Given the description of an element on the screen output the (x, y) to click on. 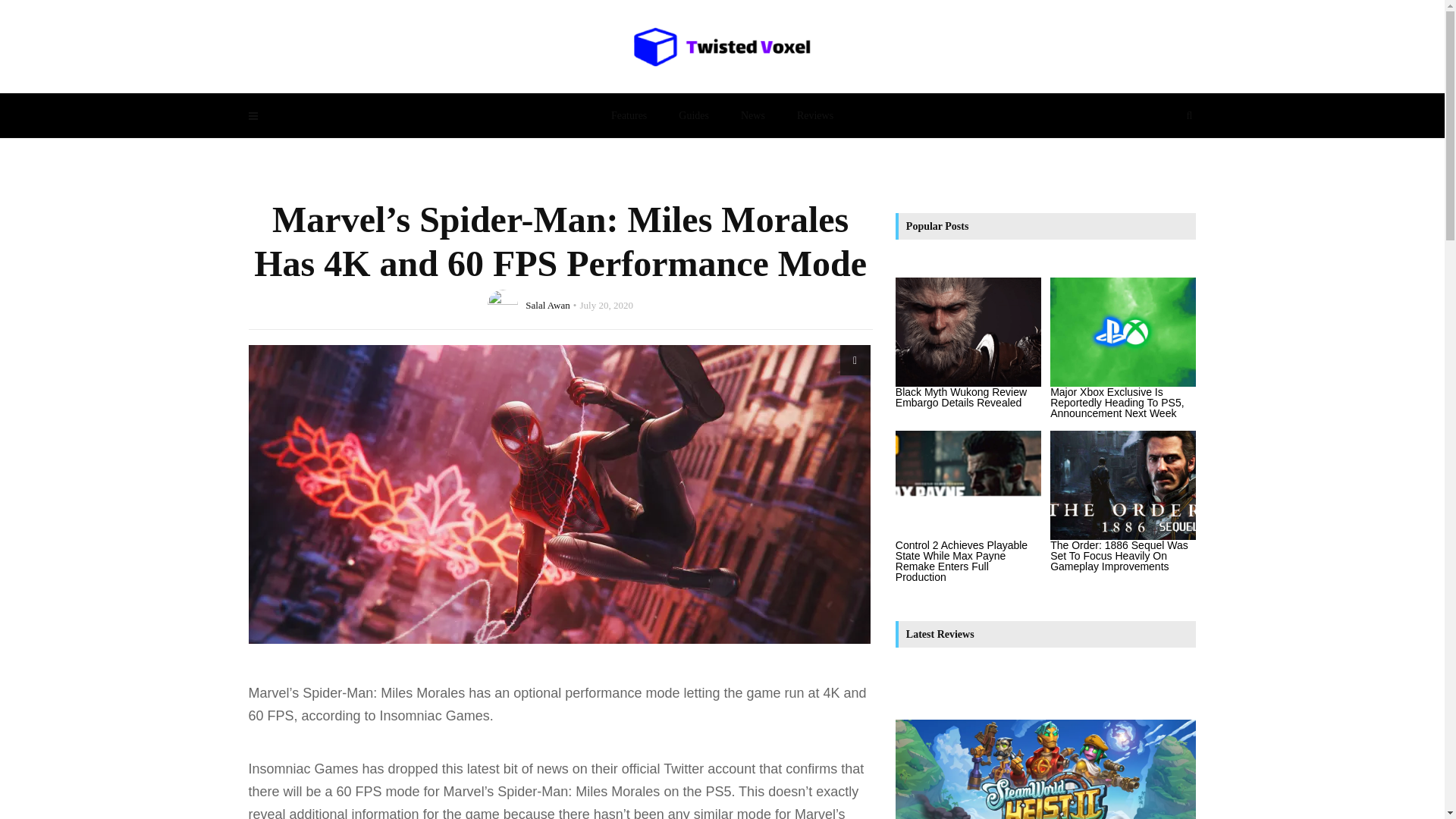
News (752, 115)
Salal Awan (547, 304)
Guides (693, 115)
Features (628, 115)
Reviews (814, 115)
